Given the description of an element on the screen output the (x, y) to click on. 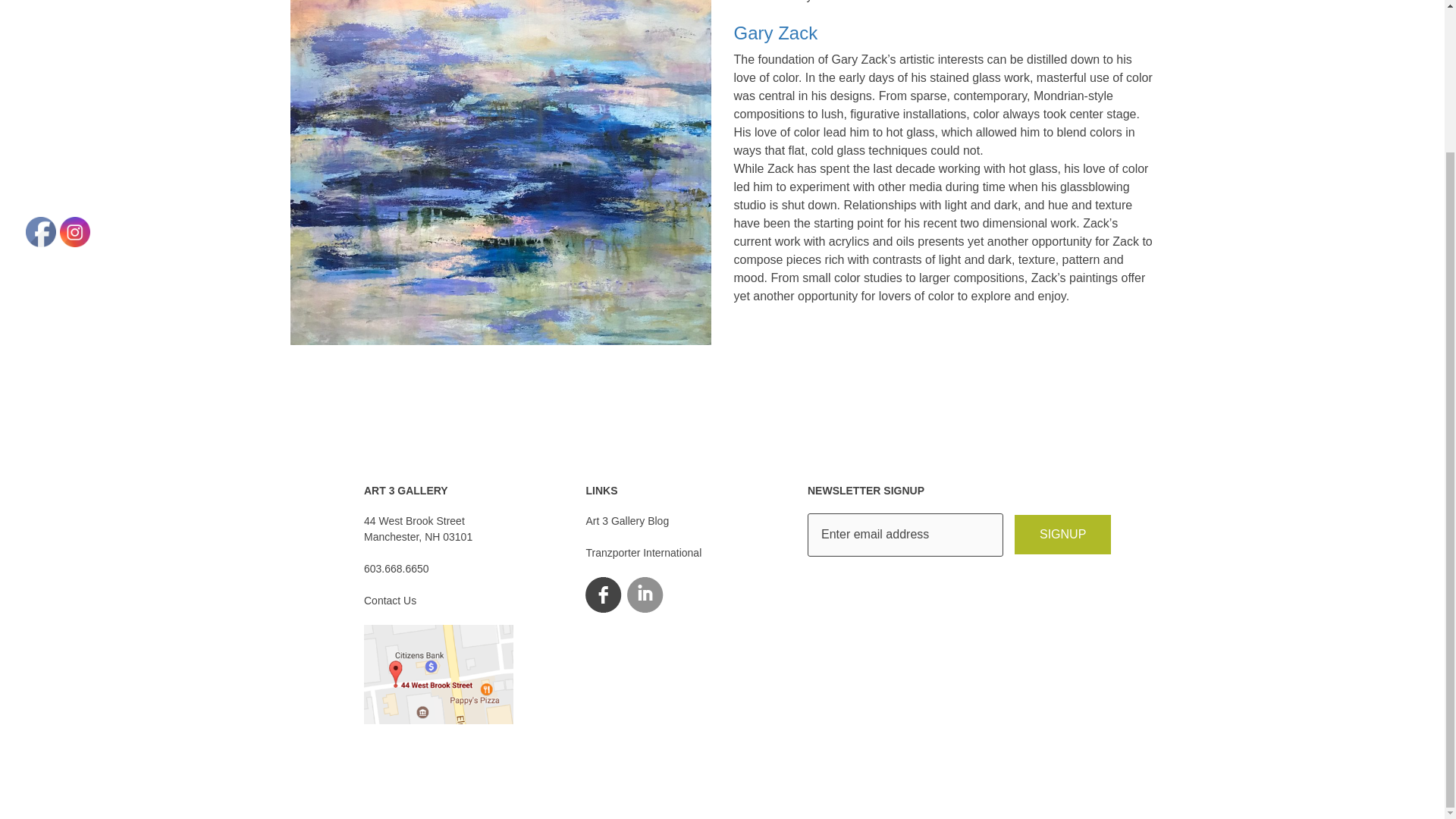
Gary Zack (943, 33)
Contact Us (390, 600)
Facebook (417, 528)
SIGNUP (41, 231)
Art 3 Gallery Blog (1062, 534)
Tranzporter International (626, 521)
SIGNUP (643, 552)
Instagram (1062, 534)
603.668.6650 (74, 231)
